Given the description of an element on the screen output the (x, y) to click on. 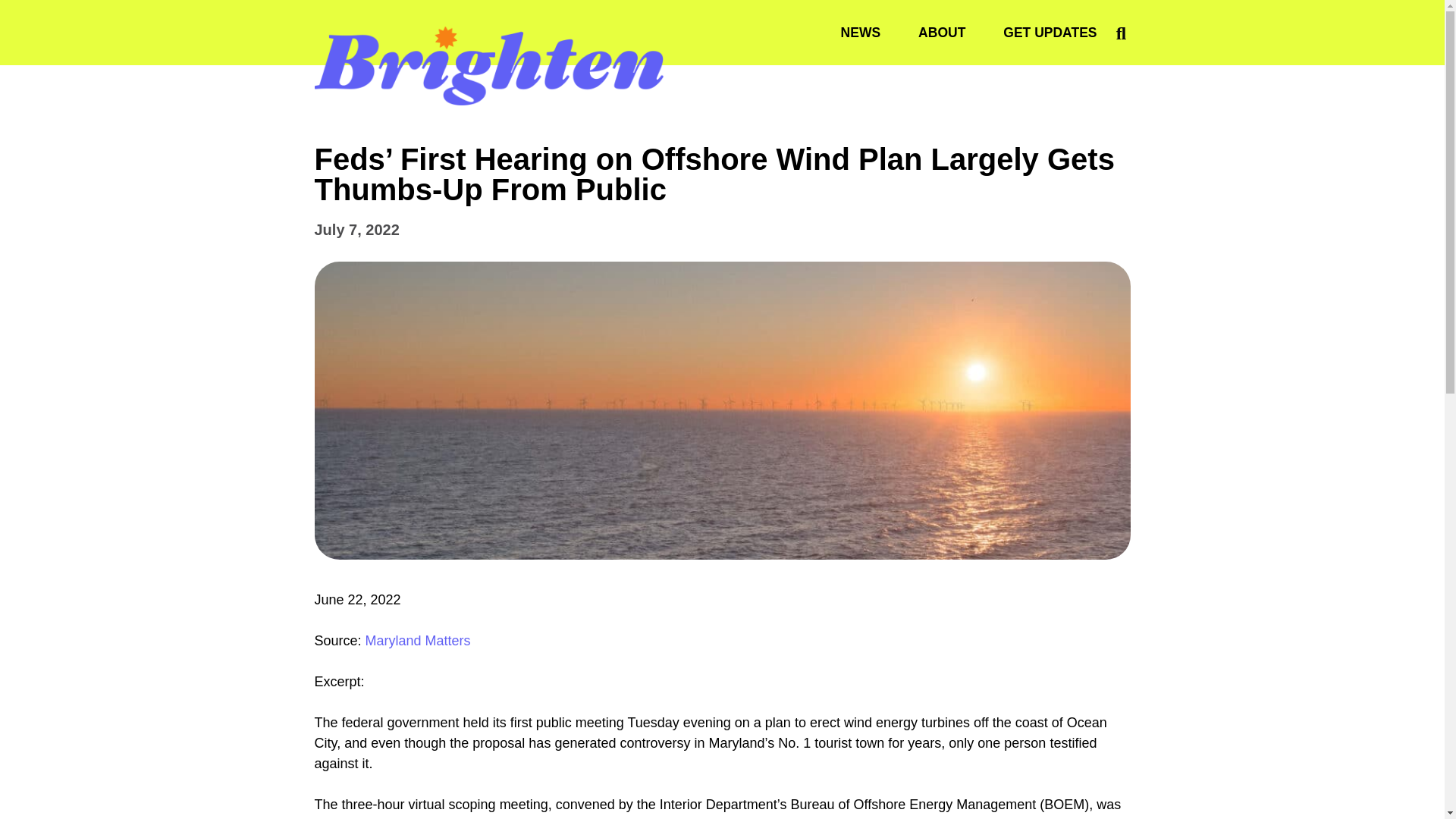
ABOUT (941, 32)
NEWS (860, 32)
Maryland Matters (417, 639)
GET UPDATES (1049, 32)
